Given the description of an element on the screen output the (x, y) to click on. 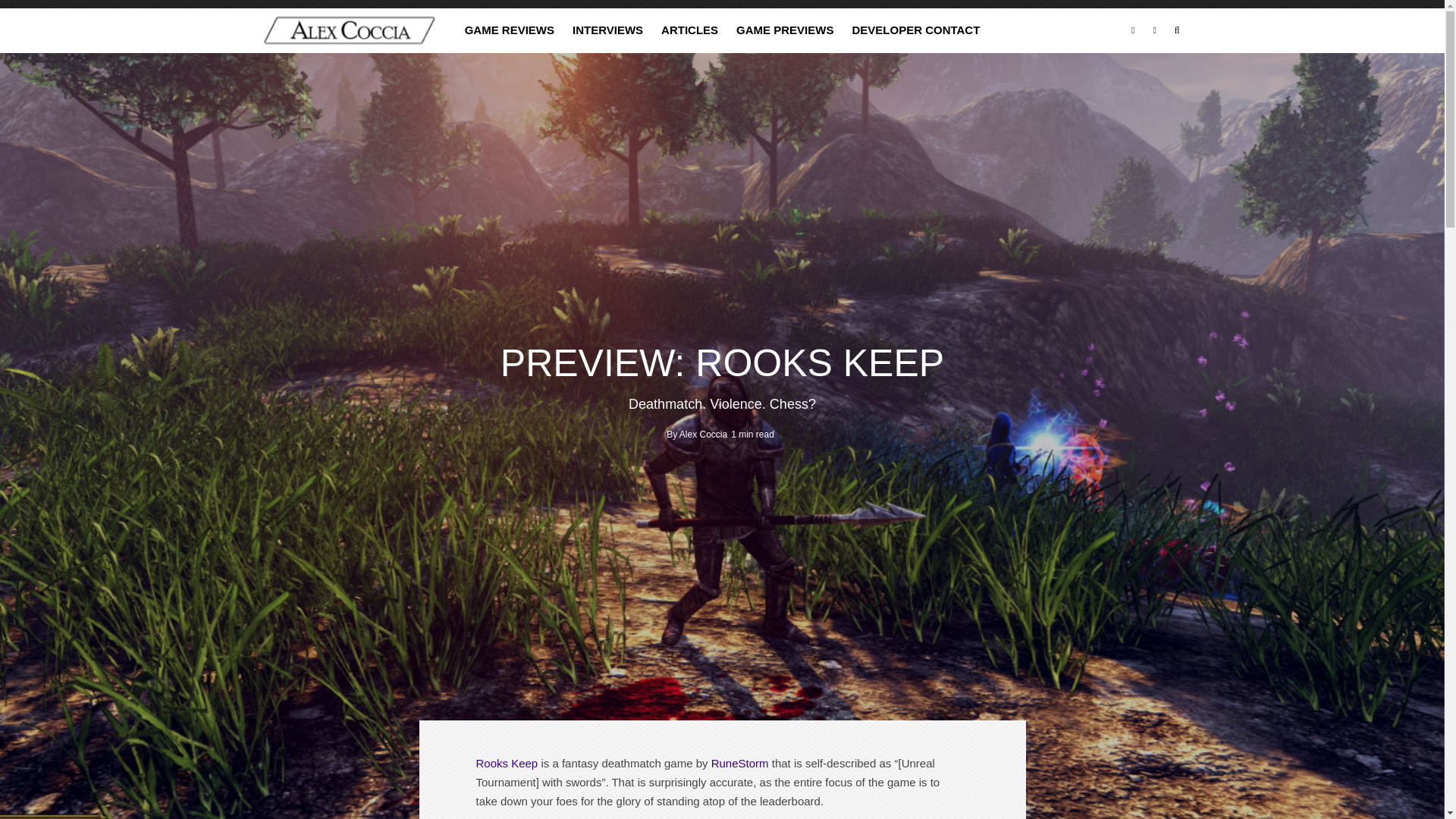
ARTICLES (689, 30)
GAME PREVIEWS (784, 30)
RuneStorm Homepage (739, 762)
GAME REVIEWS (509, 30)
INTERVIEWS (607, 30)
Rooks Keep on Steam Greenlight (507, 762)
